Given the description of an element on the screen output the (x, y) to click on. 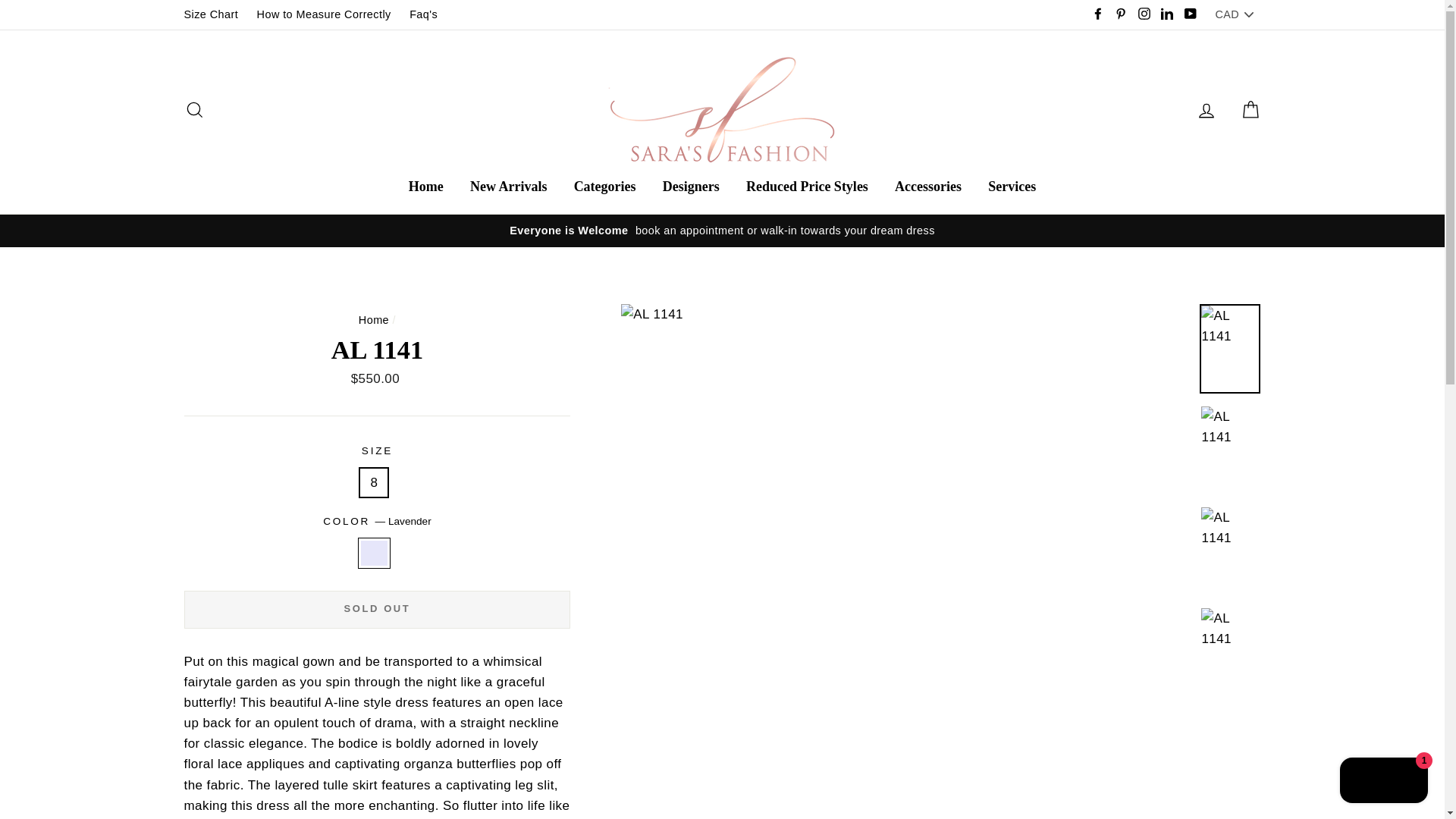
Sara's Fashion on Pinterest (1120, 14)
Back to the frontpage (373, 319)
Sara's Fashion on Instagram (1144, 14)
Sara's Fashion on YouTube (1189, 14)
Sara's Fashion on Facebook (1097, 14)
Sara's Fashion on LinkedIn (1166, 14)
